Given the description of an element on the screen output the (x, y) to click on. 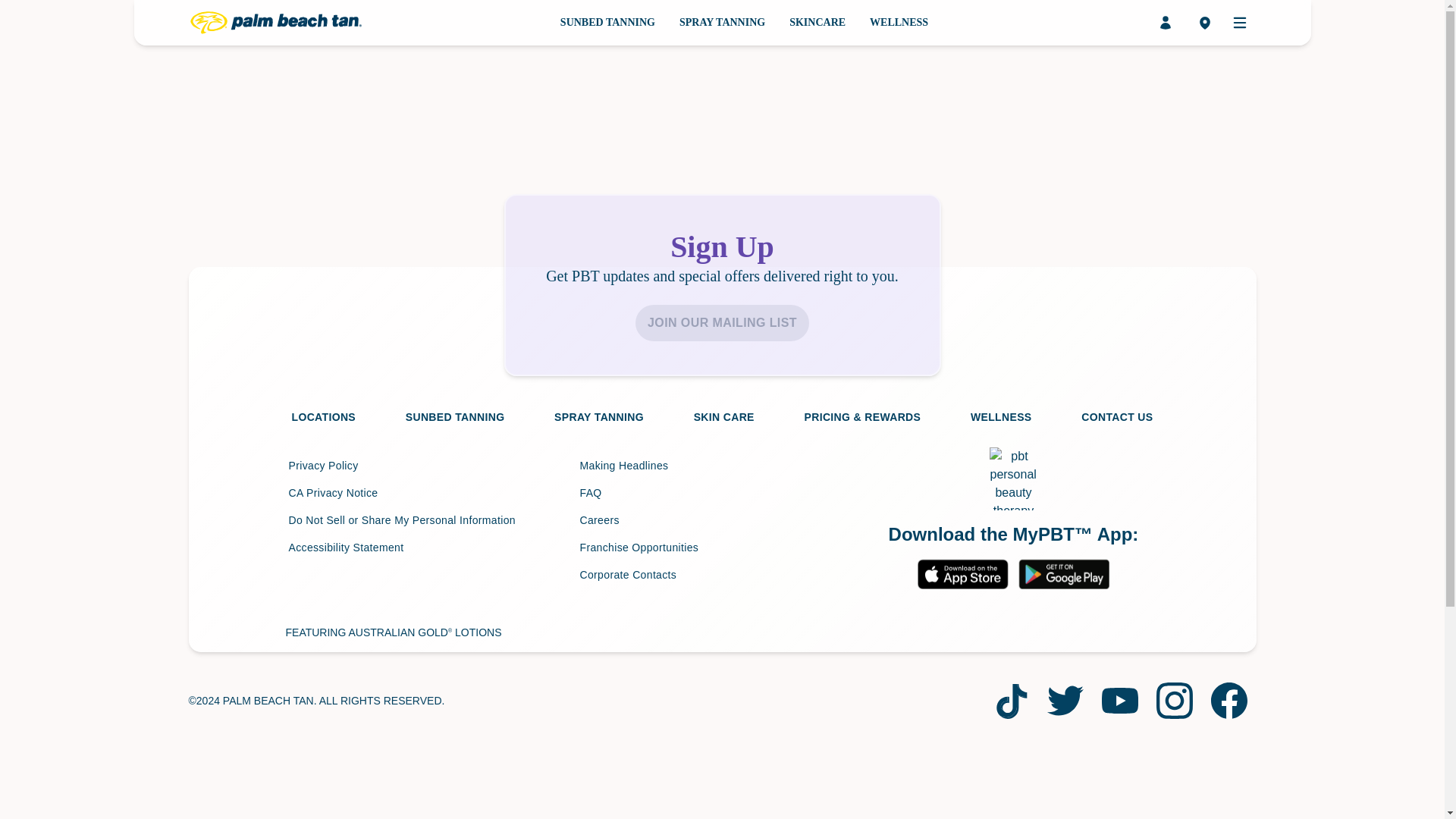
Do Not Sell or Share My Personal Information (430, 519)
Corporate Contacts (721, 574)
FAQ (721, 492)
LOCATIONS (323, 416)
Palm Beach Tan Homepage (274, 22)
SPRAY TANNING (598, 416)
SKINCARE (817, 22)
Visit CA Privacy Notice (430, 492)
Visit Spray Tanning (721, 22)
Careers (721, 519)
Visit Privacy Policy (430, 465)
Visit Sunbed Tanning (454, 416)
CA Privacy Notice (430, 492)
Franchise Opportunities (721, 547)
Visit Accessibility Statement (430, 547)
